Given the description of an element on the screen output the (x, y) to click on. 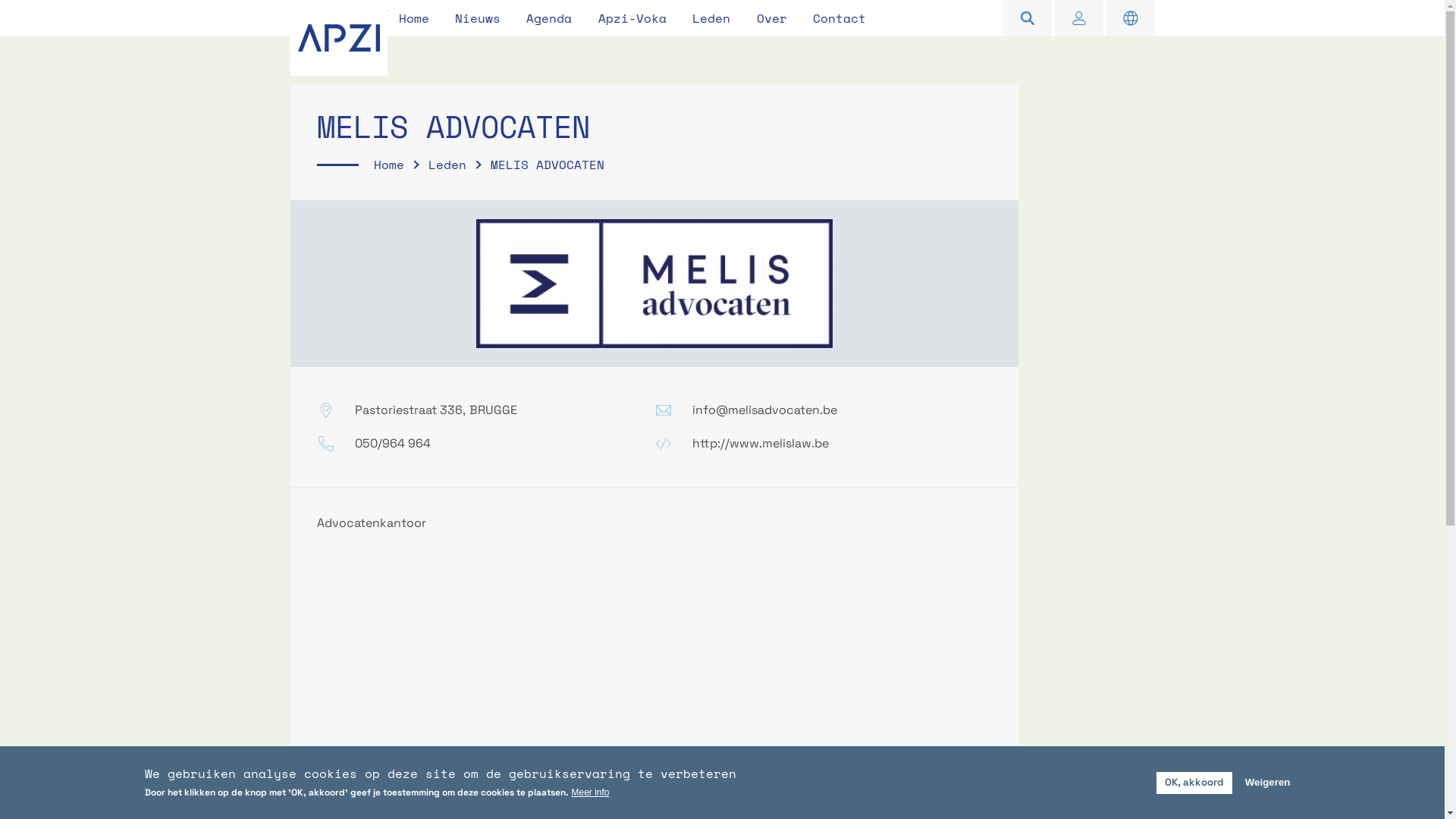
Overslaan en naar de inhoud gaan Element type: text (98, 0)
Agenda Element type: text (548, 18)
info@melisadvocaten.be Element type: text (763, 409)
Inloggen Element type: text (1078, 18)
OK, akkoord Element type: text (1194, 782)
Home Element type: text (412, 18)
Contact Element type: text (839, 18)
Apzi-Voka Element type: text (631, 18)
Leden Element type: text (446, 164)
English information Element type: text (1129, 18)
APZI Element type: text (337, 37)
Home Element type: text (388, 164)
Leden Element type: text (710, 18)
Zoeken Element type: text (1026, 18)
Weigeren Element type: text (1267, 781)
http://www.melislaw.be Element type: text (759, 443)
Meer info Element type: text (590, 792)
Nieuws Element type: text (477, 18)
Over Element type: text (770, 18)
